Given the description of an element on the screen output the (x, y) to click on. 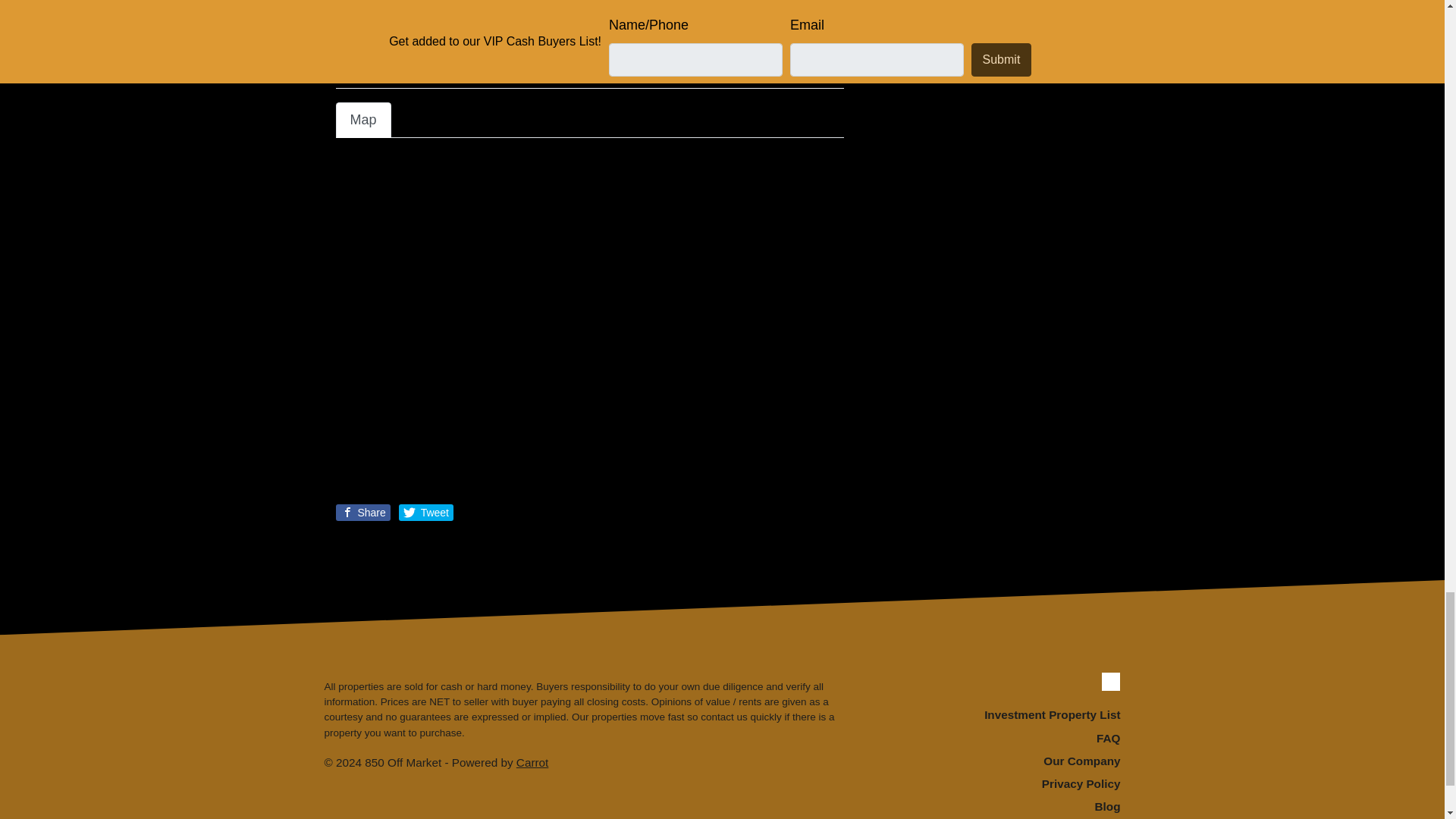
Question About This Property (588, 18)
Map (362, 120)
